Given the description of an element on the screen output the (x, y) to click on. 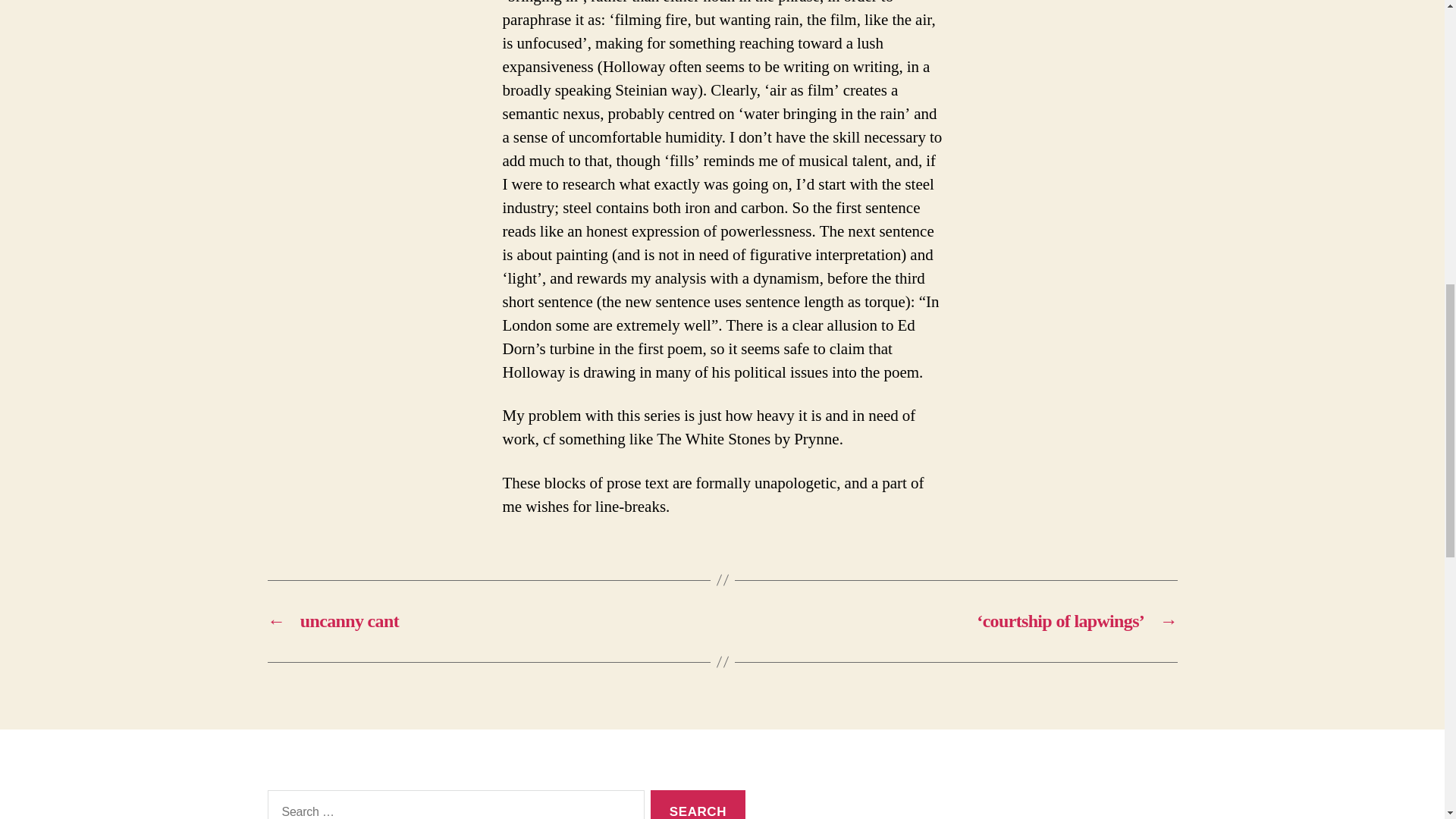
Search (697, 804)
Search (697, 804)
